Given the description of an element on the screen output the (x, y) to click on. 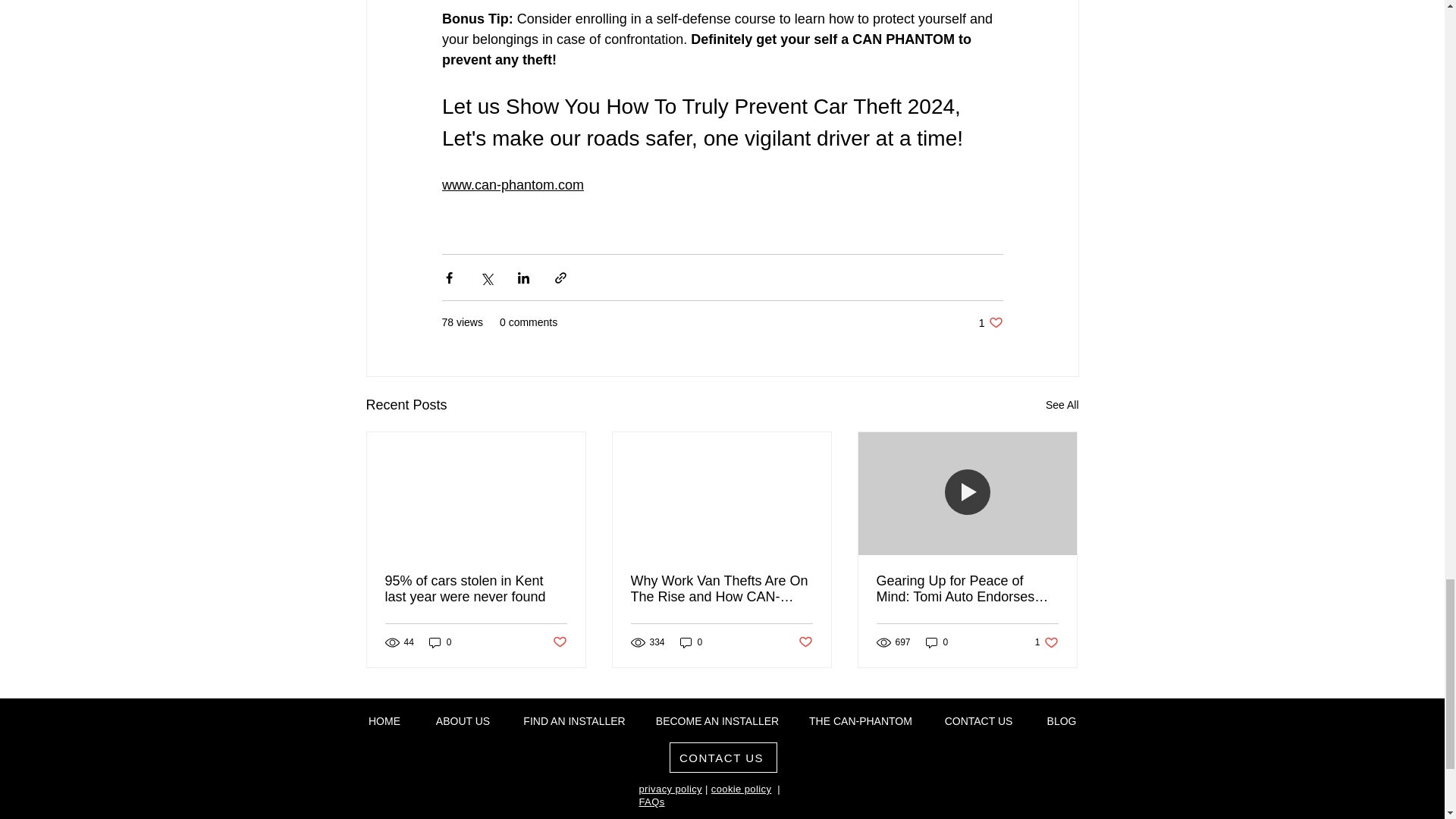
0 (440, 642)
0 (691, 642)
BLOG (1061, 720)
Post not marked as liked (558, 642)
FIND AN INSTALLER (575, 720)
www.can-phantom.com (990, 322)
HOME (512, 184)
BECOME AN INSTALLER (383, 720)
